Given the description of an element on the screen output the (x, y) to click on. 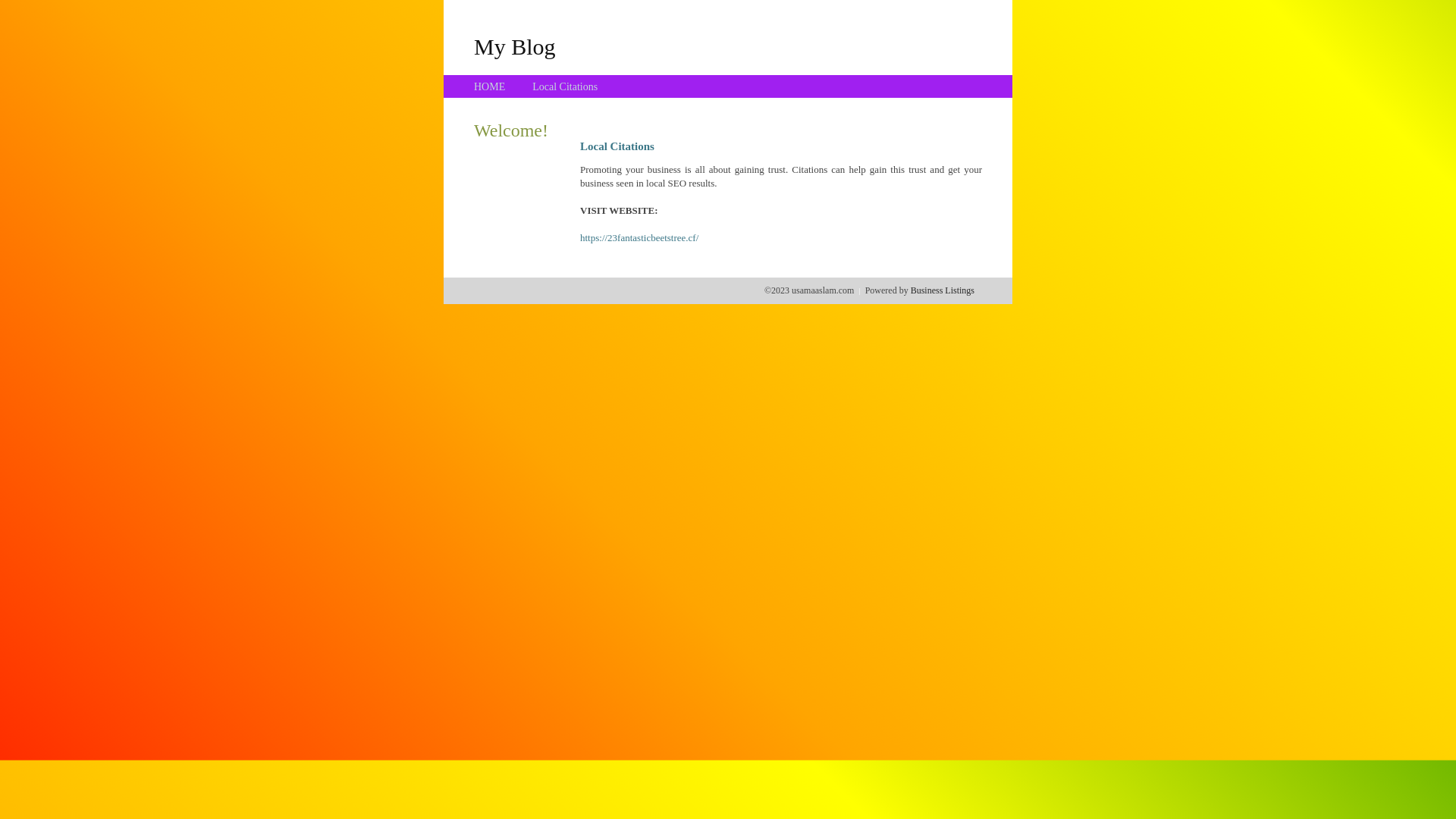
Business Listings Element type: text (942, 290)
HOME Element type: text (489, 86)
Local Citations Element type: text (564, 86)
https://23fantasticbeetstree.cf/ Element type: text (639, 237)
My Blog Element type: text (514, 46)
